Given the description of an element on the screen output the (x, y) to click on. 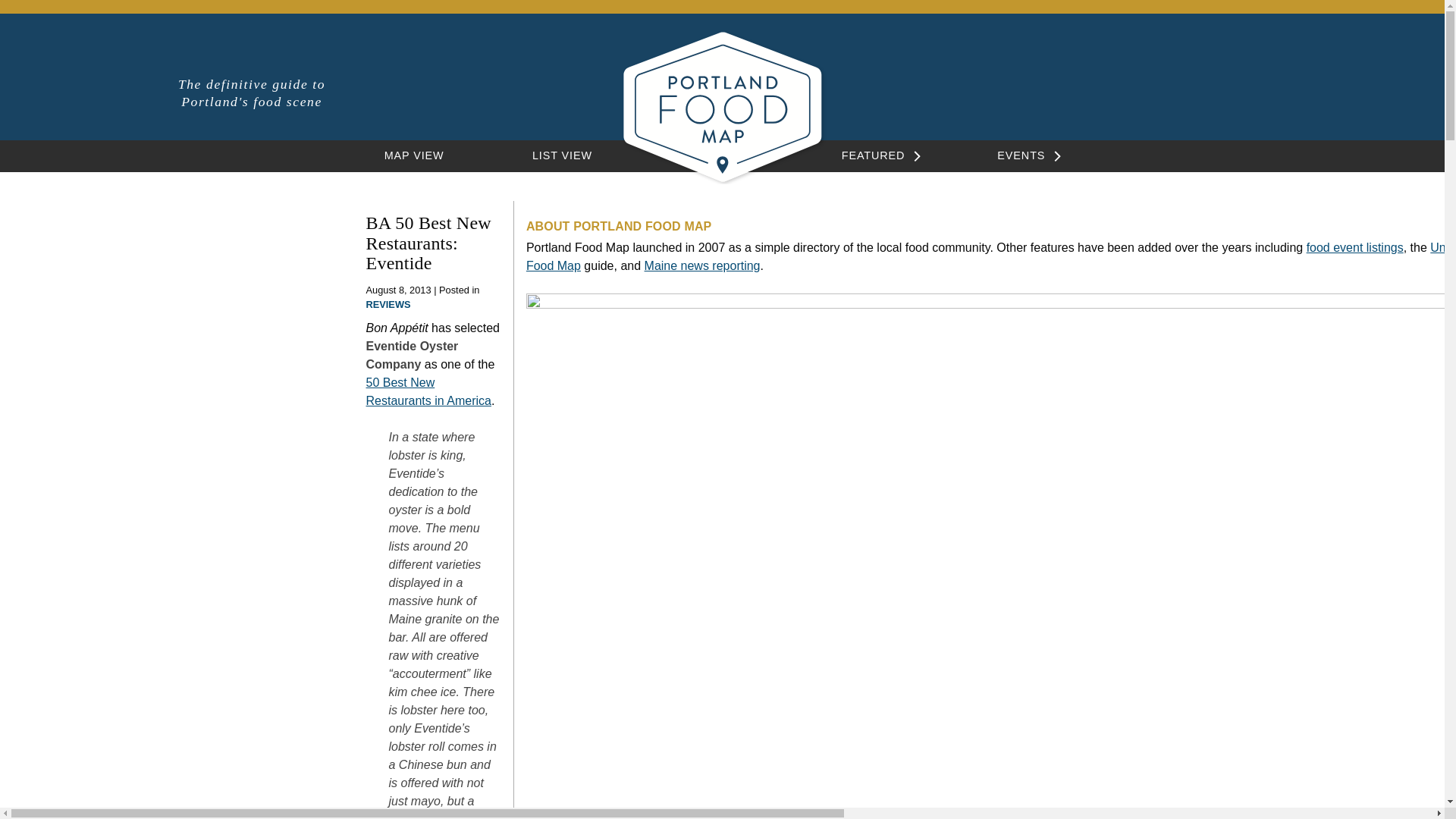
Twitter icon (1223, 88)
Maine Food Map (990, 255)
Portland Food Map logo (721, 179)
Instagram icon (1196, 87)
REVIEWS (387, 304)
Under Construction (1442, 246)
LIST VIEW (562, 155)
EVENTS (1021, 155)
Search icon (1168, 88)
August 8, 2013 (397, 289)
FEATURED (873, 155)
Portland Food Map logo (721, 106)
Instagram icon (1196, 88)
MAP VIEW (414, 155)
Maine news reporting (702, 265)
